Given the description of an element on the screen output the (x, y) to click on. 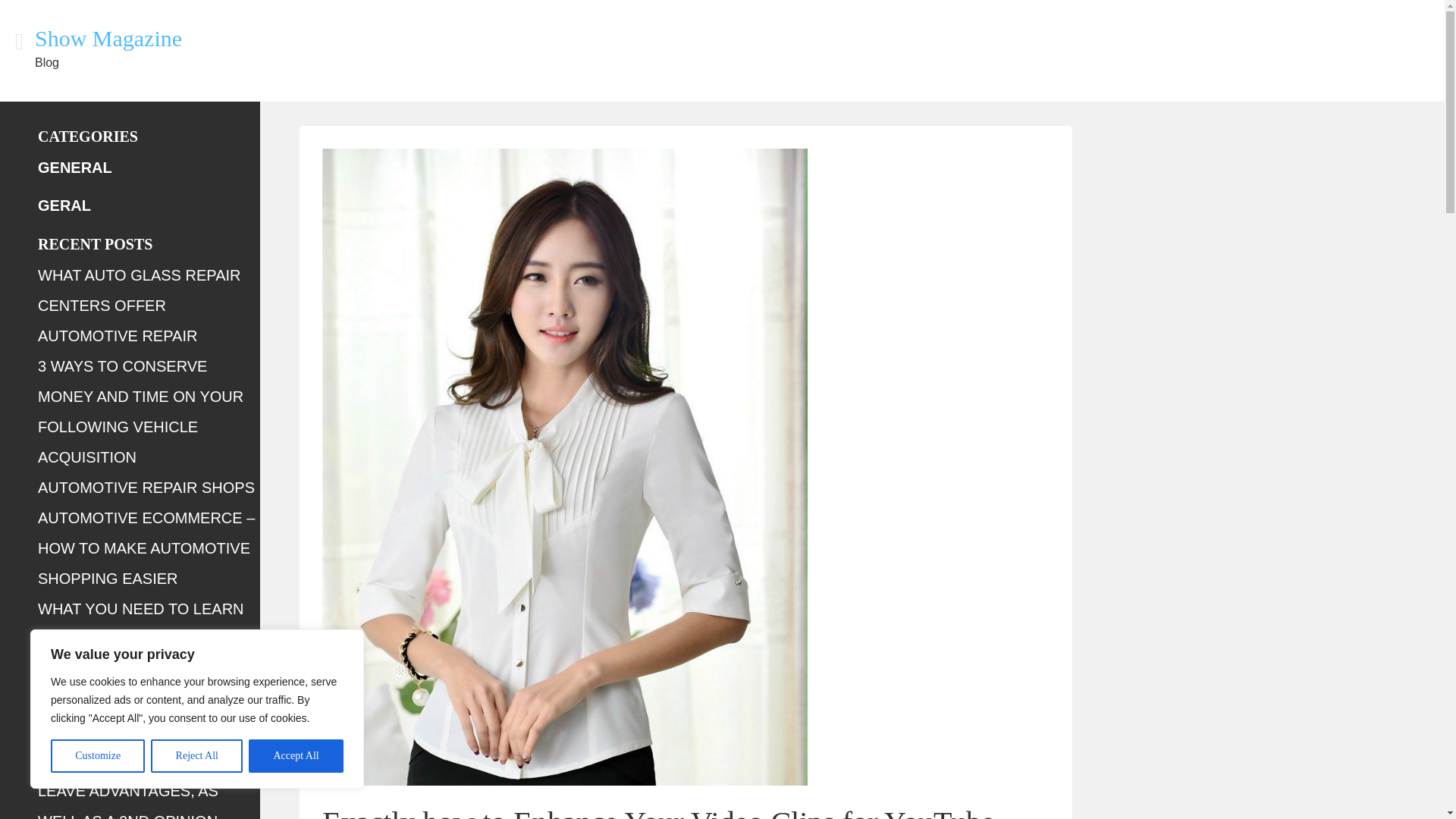
Reject All (197, 756)
Show Magazine (108, 37)
Accept All (295, 756)
Customize (97, 756)
GENERAL (74, 167)
GERAL (63, 205)
